Given the description of an element on the screen output the (x, y) to click on. 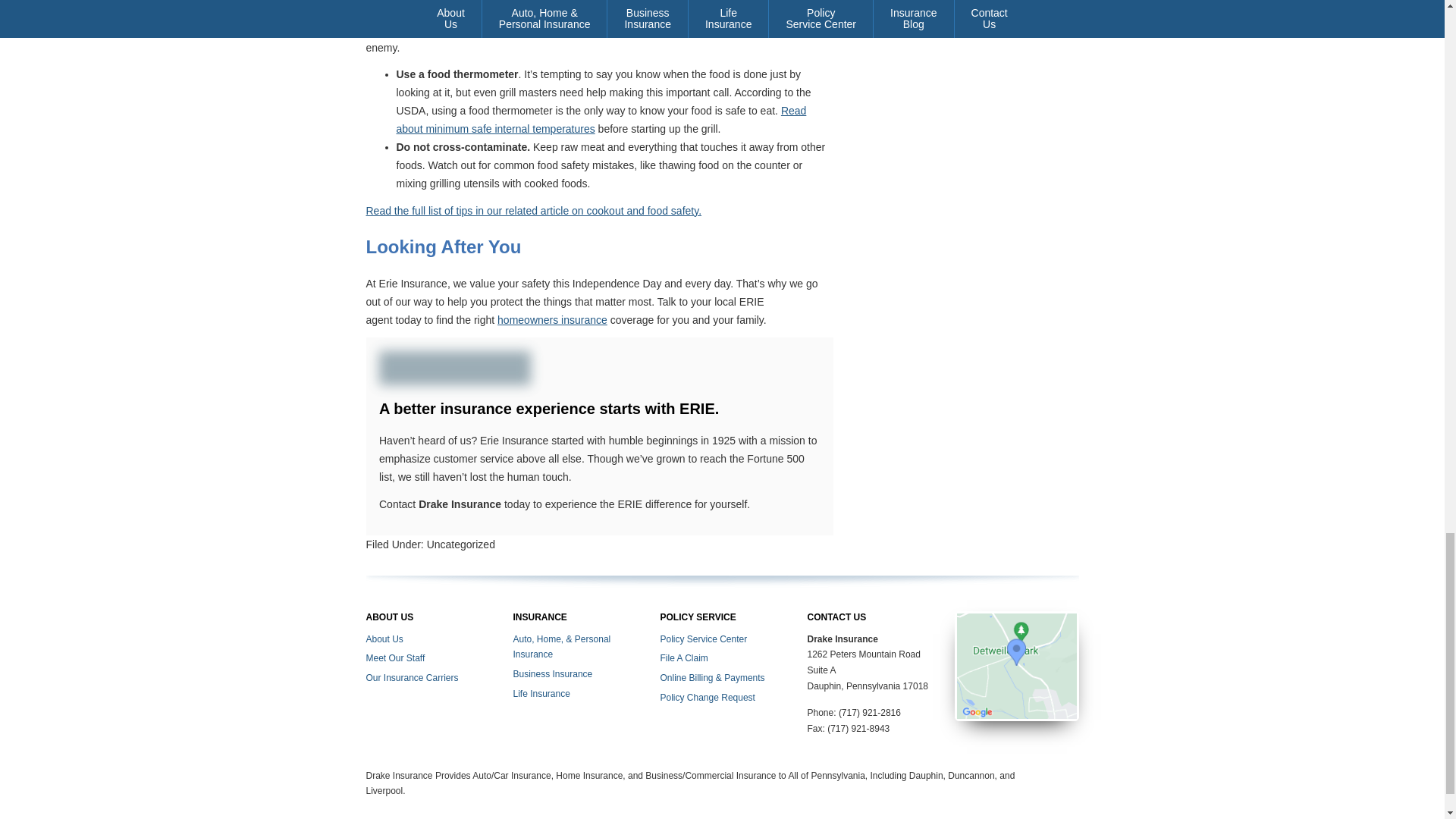
1262 Peters Mountain Road Suite A Dauphin PA 17018 (1016, 665)
